Given the description of an element on the screen output the (x, y) to click on. 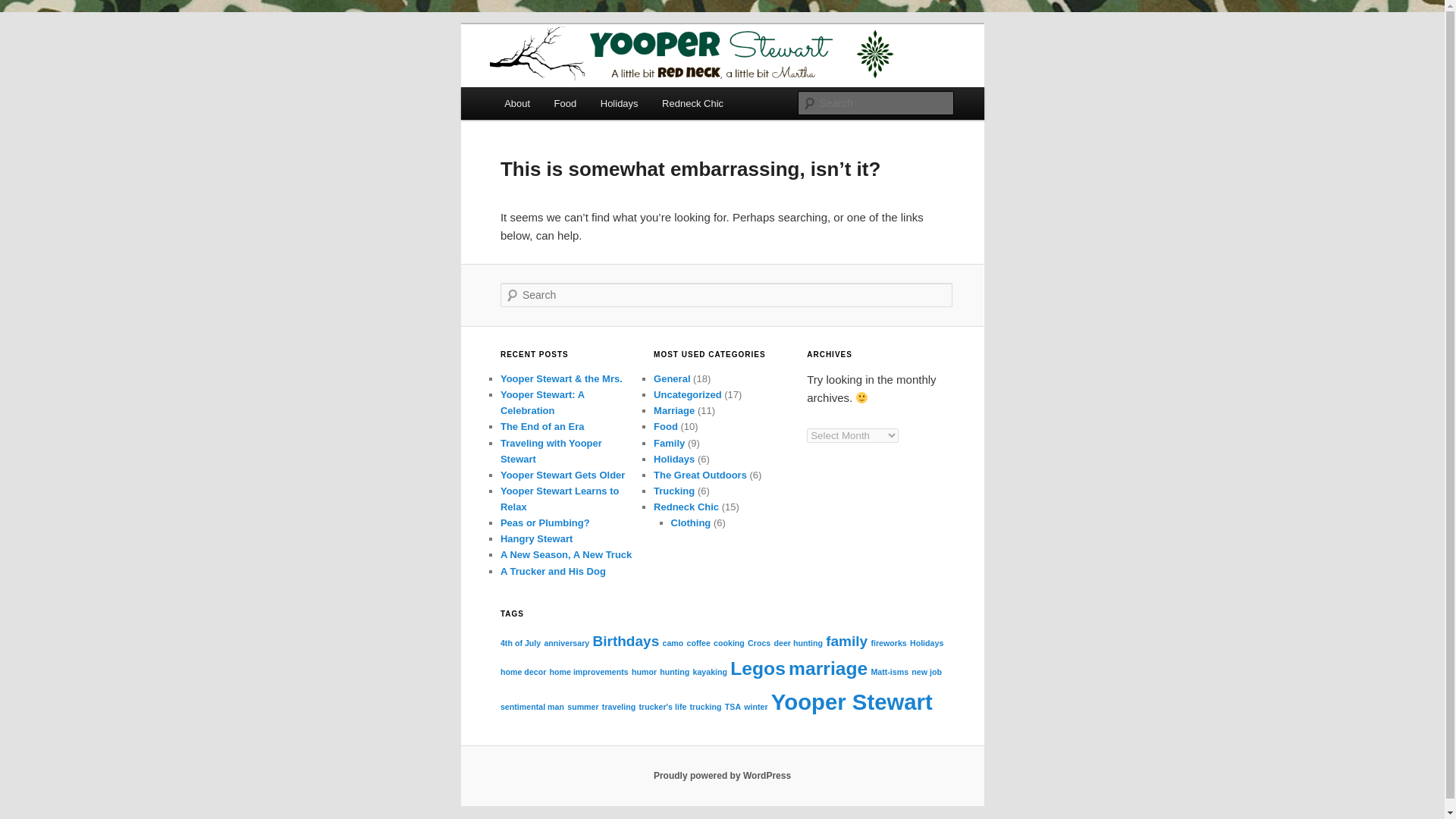
Trucking (673, 490)
Birthdays (625, 641)
anniversary (566, 642)
A Trucker and His Dog (552, 571)
Food (665, 426)
Family (668, 442)
Redneck Chic (692, 102)
cooking (728, 642)
Holidays (673, 459)
